Given the description of an element on the screen output the (x, y) to click on. 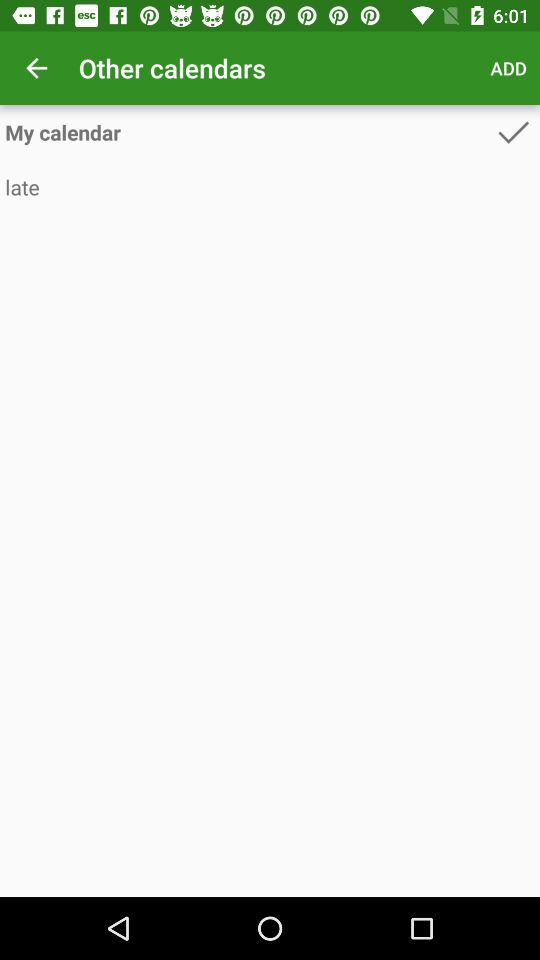
select the icon to the left of other calendars app (36, 68)
